Given the description of an element on the screen output the (x, y) to click on. 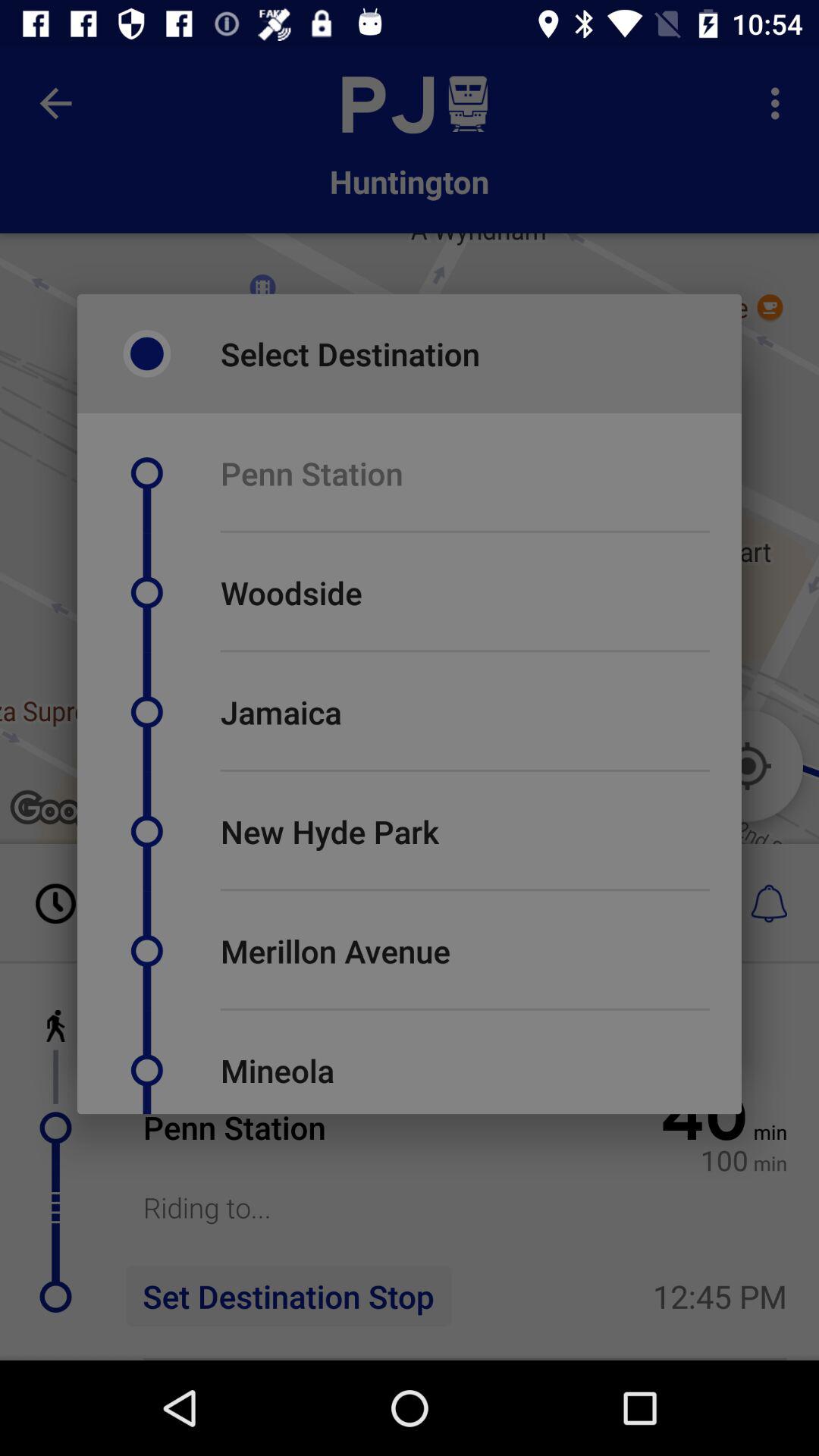
swipe to penn station (311, 472)
